Given the description of an element on the screen output the (x, y) to click on. 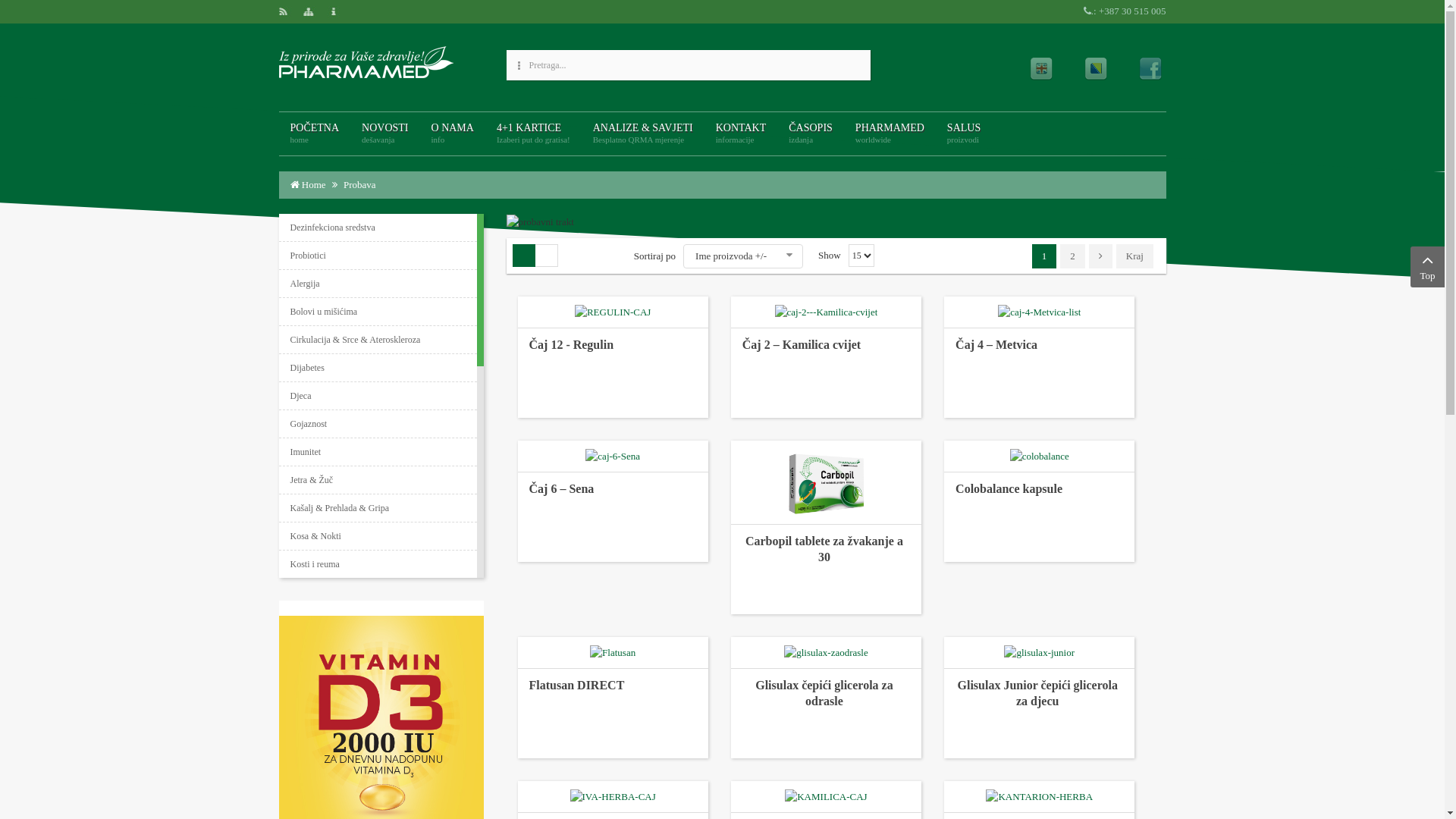
Njega usana Element type: text (377, 704)
Kosti i reuma Element type: text (377, 563)
SALUS
proizvodi Element type: text (963, 133)
Gojaznost Element type: text (377, 423)
O NAMA
info Element type: text (452, 133)
Krvni pritisak & Krvni sudovi Element type: text (377, 591)
Djeca Element type: text (377, 395)
Kraj Element type: text (1134, 256)
Oporavak Element type: text (377, 732)
Colobalance kapsule Element type: text (1008, 488)
Probiotici Element type: text (377, 255)
Ime proizvoda +/- Element type: text (731, 255)
Pharmamed d.o.o.  Element type: hover (366, 60)
Alergija Element type: text (377, 283)
Nesanica & Nemir Element type: text (377, 648)
Kosa & Nokti Element type: text (377, 535)
Home Element type: text (314, 184)
Imunitet Element type: text (377, 451)
Dijabetes Element type: text (377, 367)
4+1 KARTICE
Izaberi put do gratisa! Element type: text (533, 133)
Cirkulacija & Srce & Ateroskleroza Element type: text (377, 339)
Flatusan DIRECT Element type: hover (612, 696)
Colobalance kapsule Element type: hover (1039, 499)
PHARMAMED
worldwide Element type: text (889, 133)
Menopauza Element type: text (377, 619)
Facebook Element type: hover (1149, 68)
2 Element type: text (1072, 256)
Dezinfekciona sredstva Element type: text (377, 227)
KONTAKT
informacije Element type: text (741, 133)
Osteoporoza Element type: text (377, 760)
ANALIZE & SAVJETI
Besplatno QRMA mjerenje Element type: text (642, 133)
Top Element type: text (1427, 266)
Flatusan DIRECT Element type: text (576, 684)
